Given the description of an element on the screen output the (x, y) to click on. 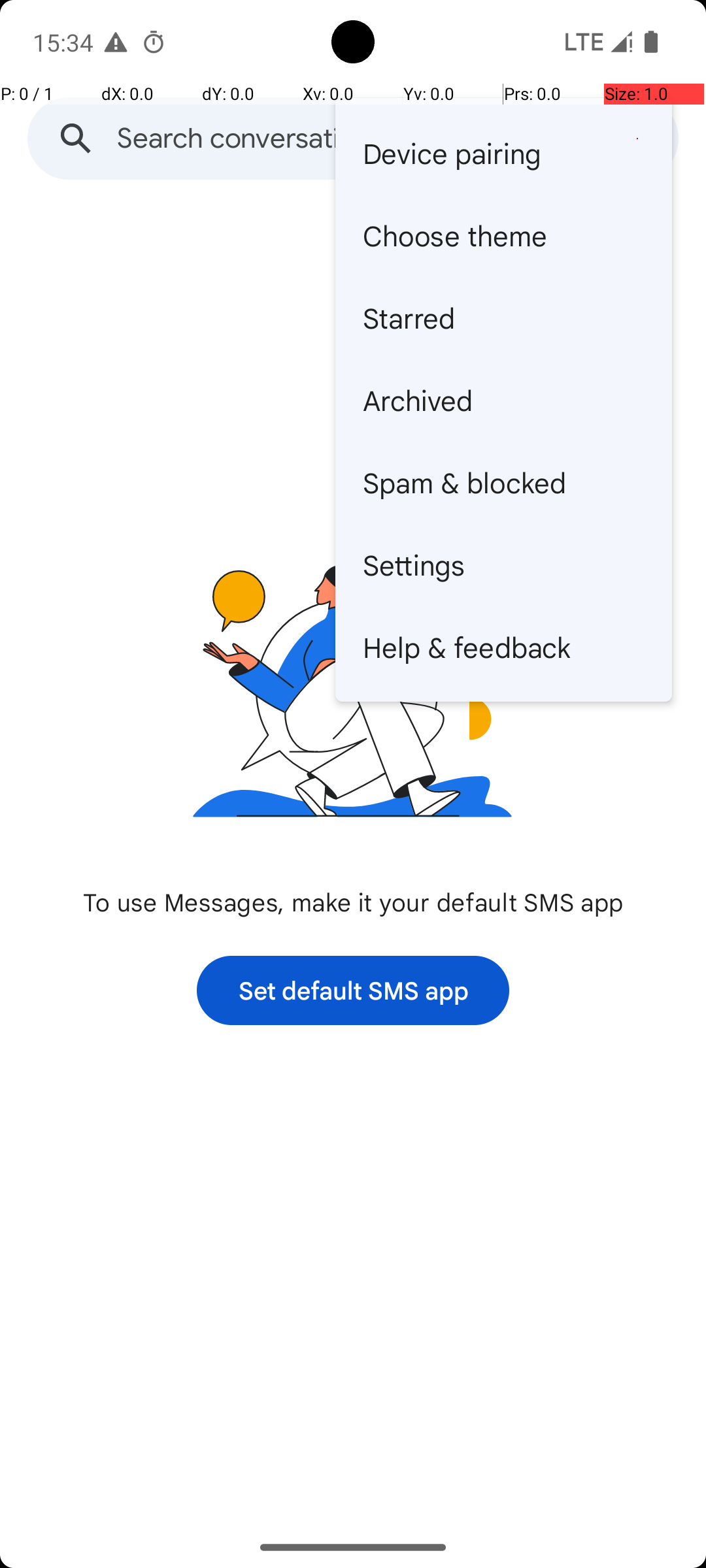
Device pairing Element type: android.widget.TextView (503, 152)
Choose theme Element type: android.widget.TextView (503, 234)
Starred Element type: android.widget.TextView (503, 317)
Archived Element type: android.widget.TextView (503, 399)
Spam & blocked Element type: android.widget.TextView (503, 481)
